Given the description of an element on the screen output the (x, y) to click on. 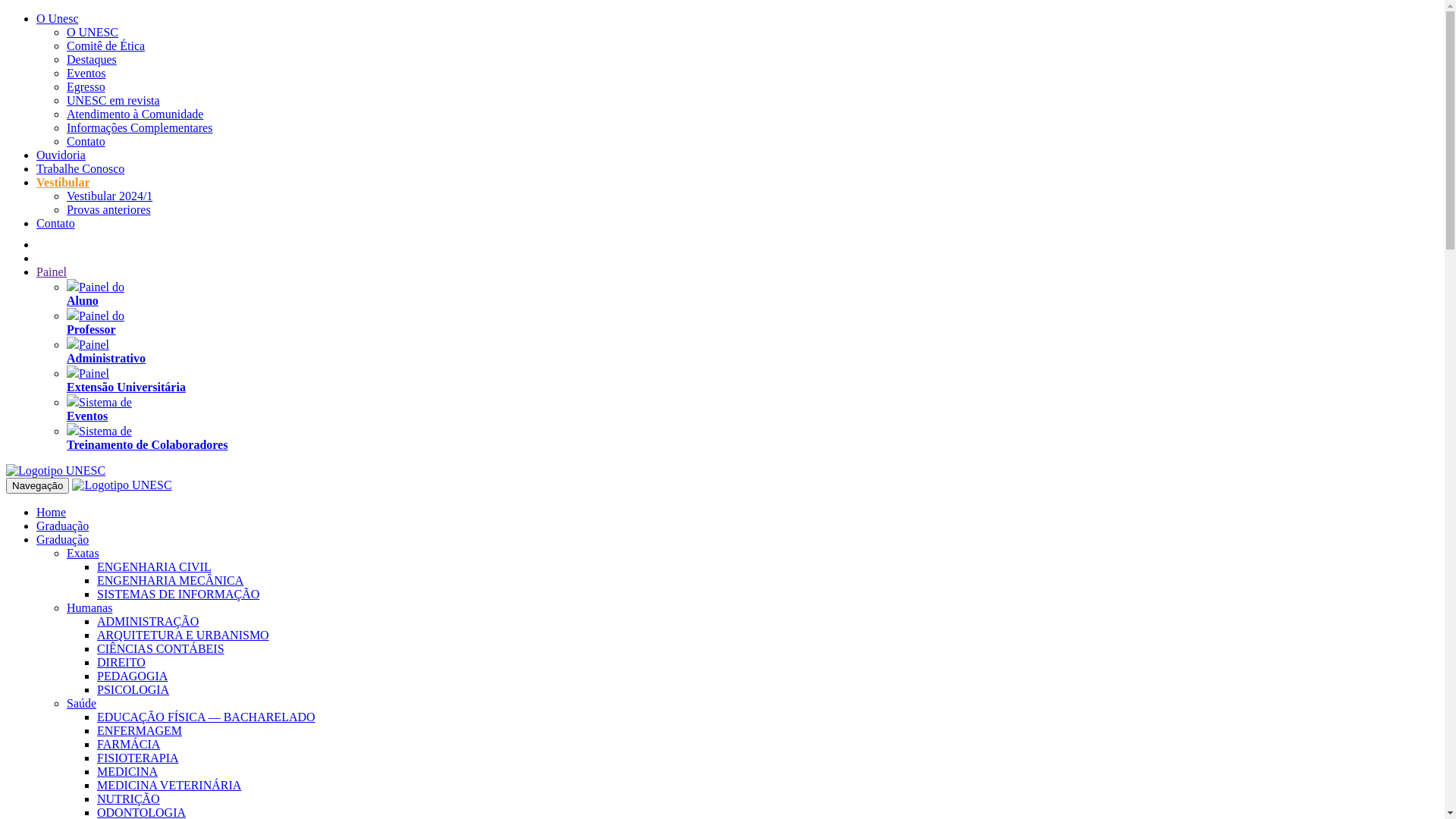
Provas anteriores Element type: text (108, 209)
FISIOTERAPIA Element type: text (137, 757)
Eventos Element type: text (86, 72)
ENFERMAGEM Element type: text (139, 730)
ENGENHARIA CIVIL Element type: text (154, 566)
DIREITO Element type: text (121, 661)
O UNESC Element type: text (92, 31)
Ouvidoria Element type: text (60, 154)
UNESC em revista Element type: text (113, 100)
PEDAGOGIA Element type: text (132, 675)
Humanas Element type: text (89, 607)
UNESC Element type: hover (121, 485)
Contato Element type: text (55, 222)
Home Element type: text (50, 511)
Destaques Element type: text (91, 59)
Vestibular 2024/1 Element type: text (109, 195)
Trabalhe Conosco Element type: text (80, 168)
Painel Element type: text (51, 271)
Contato Element type: text (85, 140)
MEDICINA Element type: text (127, 771)
Sistema de
Eventos Element type: text (98, 408)
Vestibular Element type: text (63, 181)
PSICOLOGIA Element type: text (133, 689)
Egresso Element type: text (85, 86)
UNESC Element type: hover (55, 470)
Painel
Administrativo Element type: text (105, 351)
Exatas Element type: text (82, 552)
Painel do
Professor Element type: text (95, 322)
ARQUITETURA E URBANISMO Element type: text (183, 634)
Sistema de
Treinamento de Colaboradores Element type: text (146, 437)
Painel do
Aluno Element type: text (95, 293)
O Unesc Element type: text (57, 18)
